Given the description of an element on the screen output the (x, y) to click on. 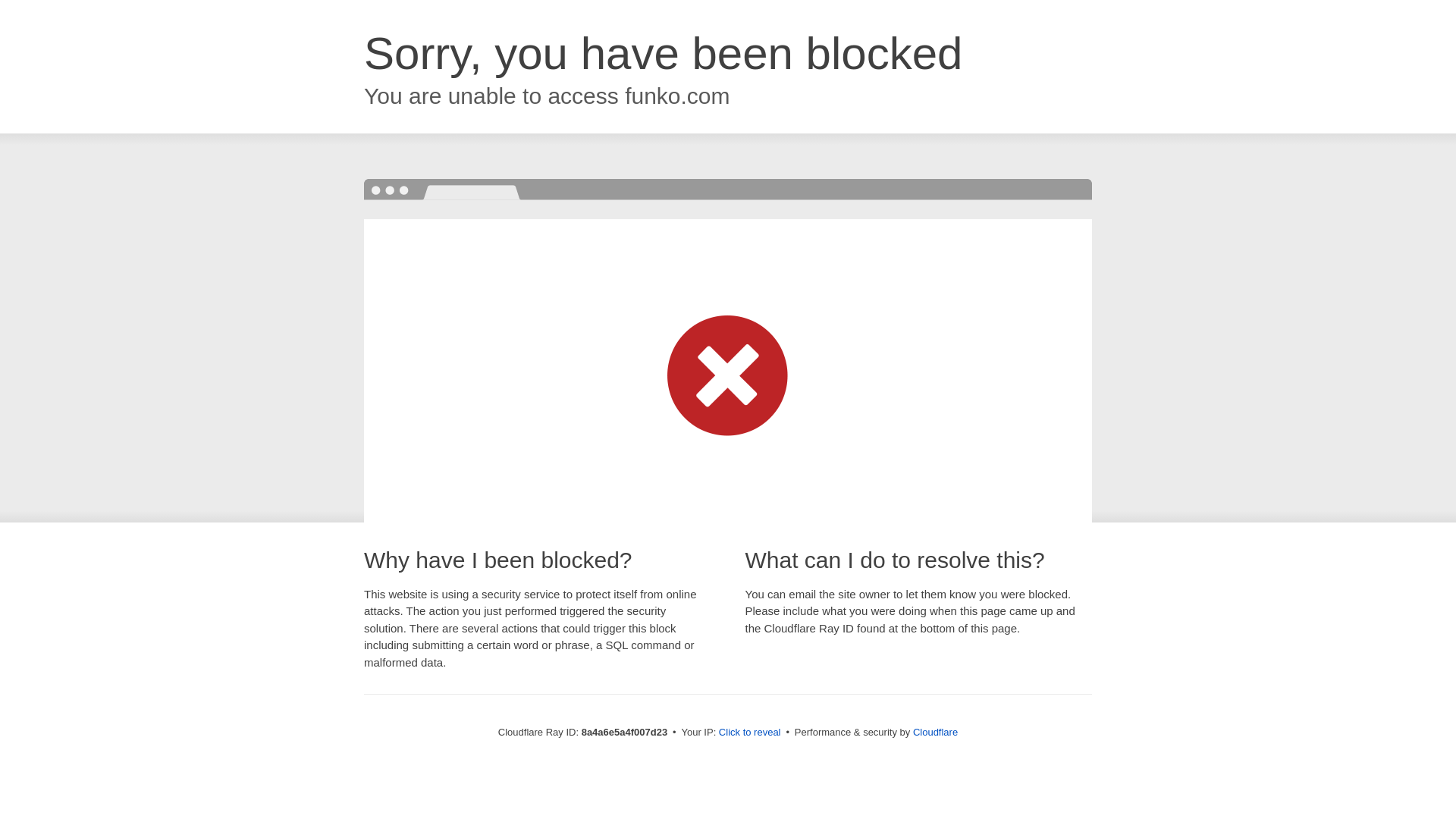
Click to reveal (749, 732)
Cloudflare (935, 731)
